Given the description of an element on the screen output the (x, y) to click on. 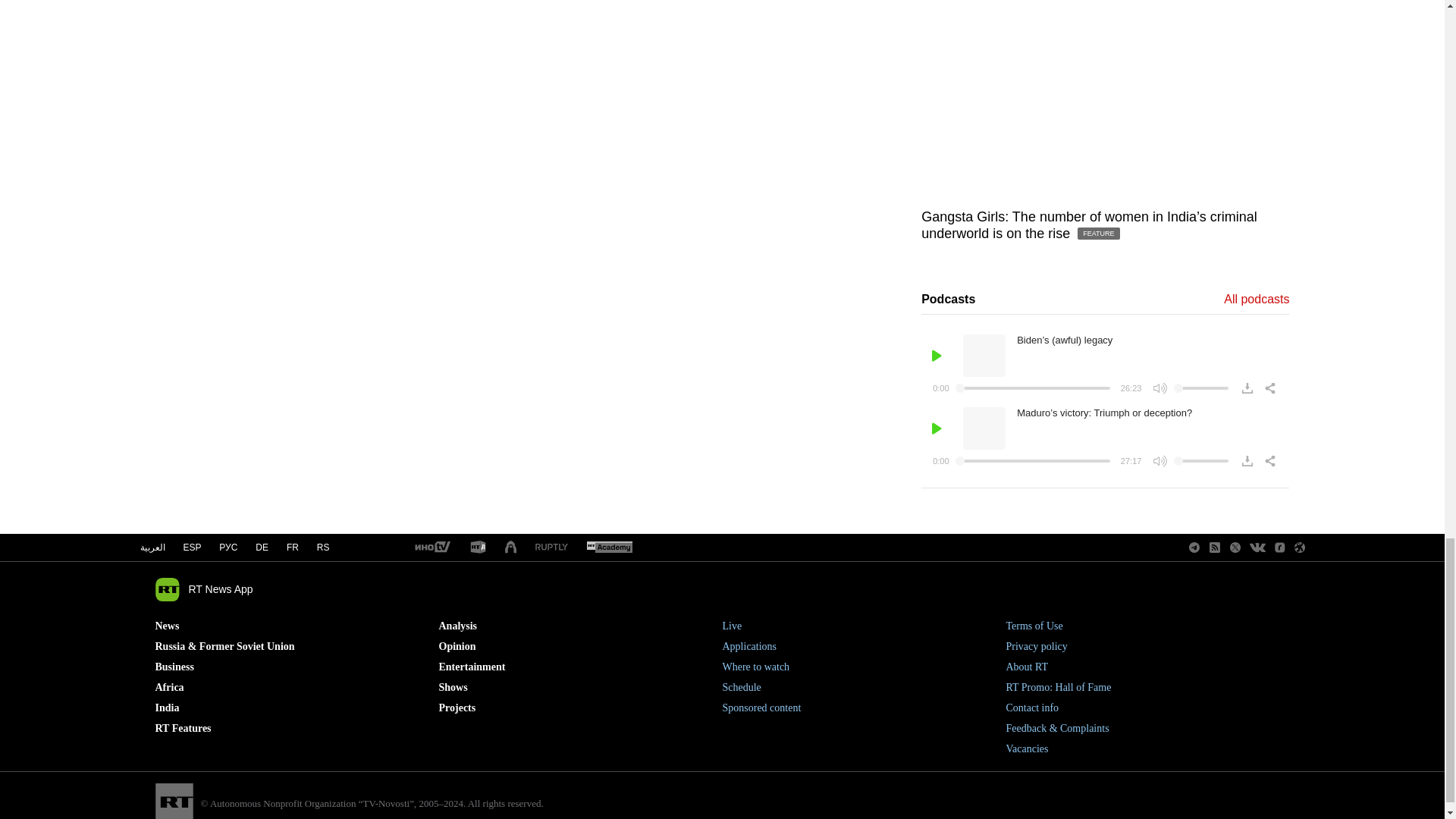
RT  (551, 547)
RT  (608, 547)
RT  (431, 547)
RT  (478, 547)
